Given the description of an element on the screen output the (x, y) to click on. 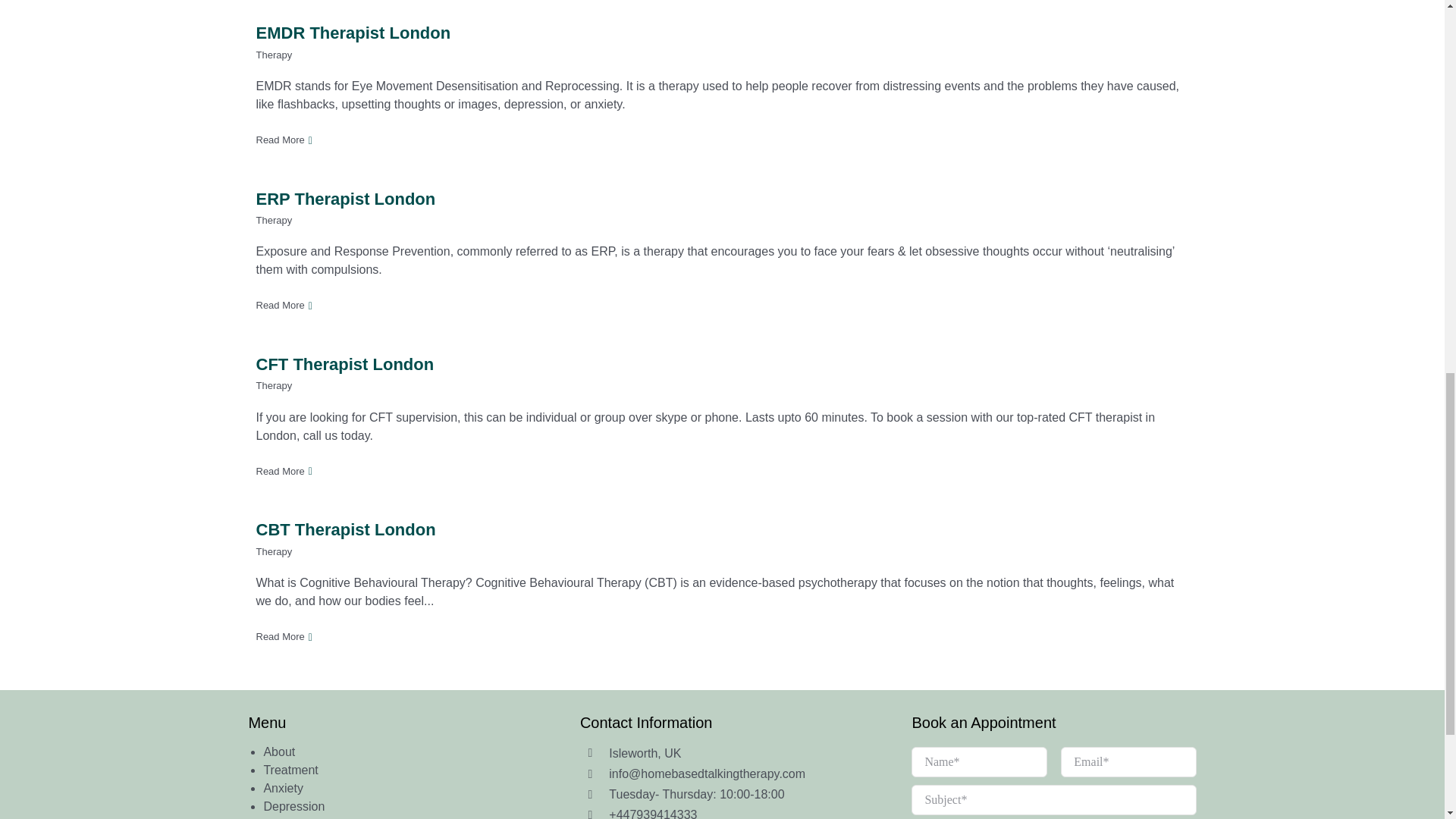
Submit (1053, 780)
